Given the description of an element on the screen output the (x, y) to click on. 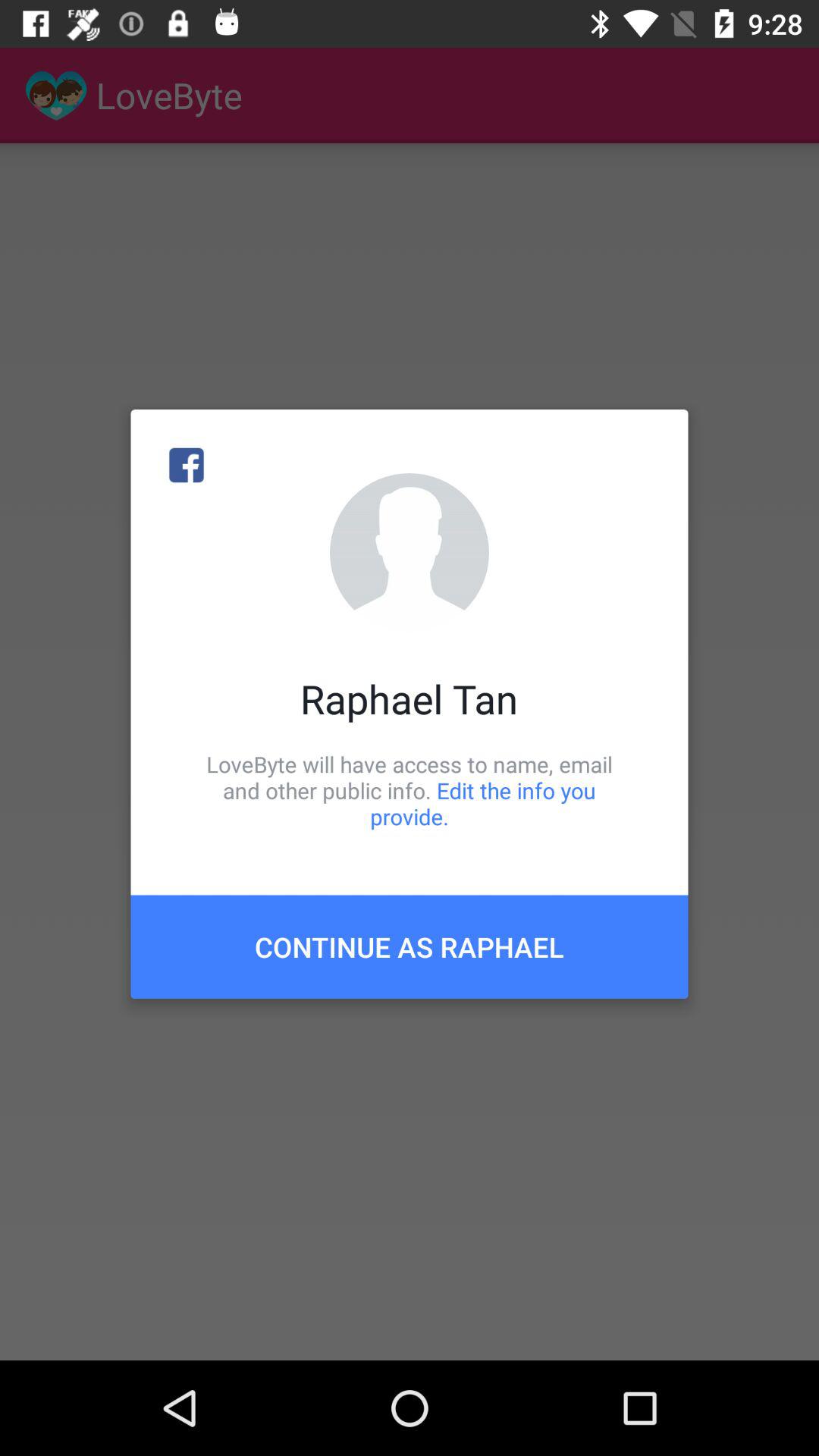
open the icon below raphael tan (409, 790)
